Given the description of an element on the screen output the (x, y) to click on. 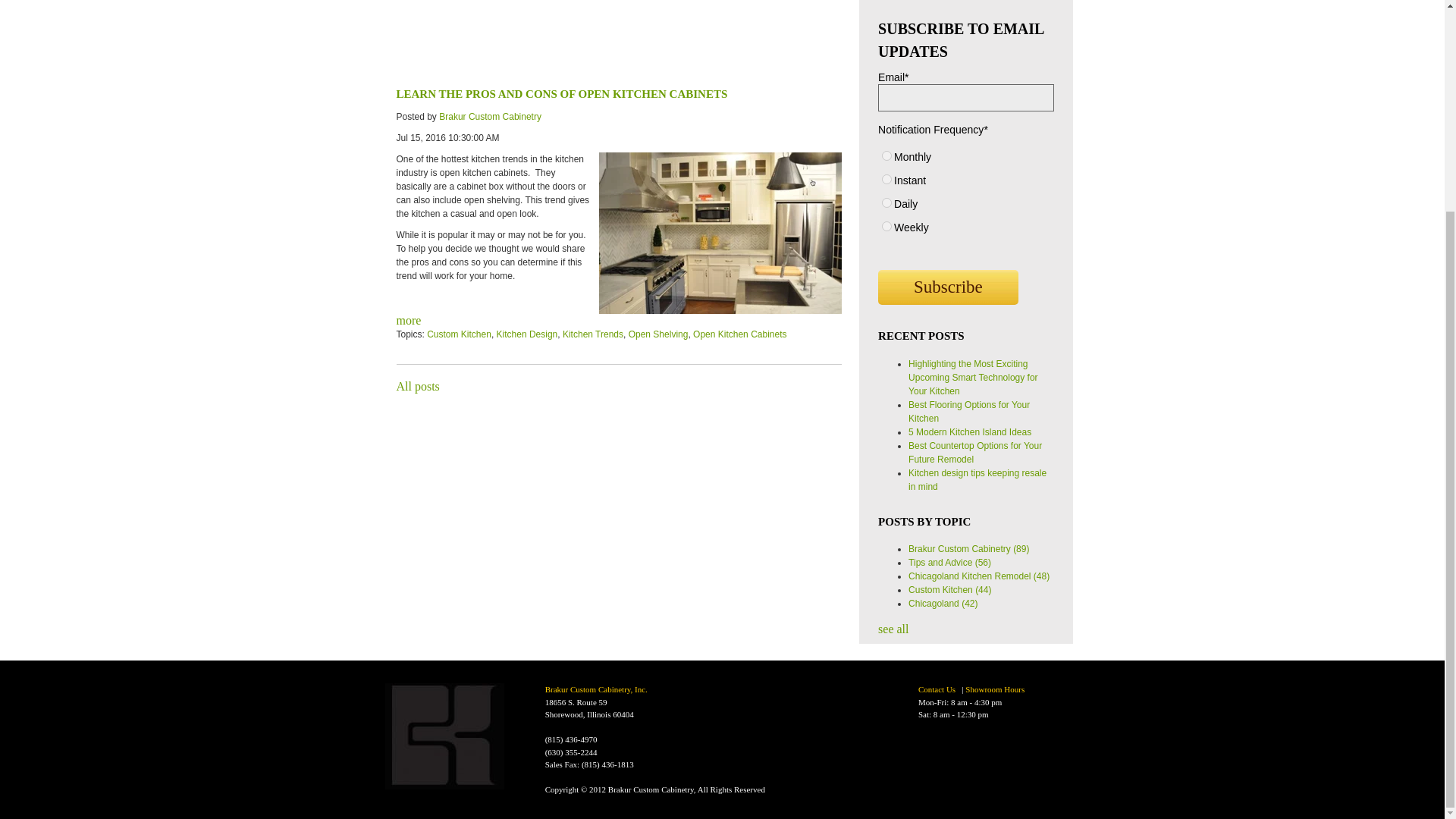
weekly (886, 225)
more (408, 319)
Subscribe (947, 287)
Custom Kitchen (459, 334)
Kitchen design tips keeping resale in mind (977, 479)
daily (886, 203)
Best Flooring Options for Your Kitchen (968, 411)
Open Shelving (658, 334)
All posts (417, 386)
HubSpot Video (618, 38)
Subscribe (947, 287)
instant (886, 179)
Best Countertop Options for Your Future Remodel (975, 452)
LEARN THE PROS AND CONS OF OPEN KITCHEN CABINETS (561, 93)
